Given the description of an element on the screen output the (x, y) to click on. 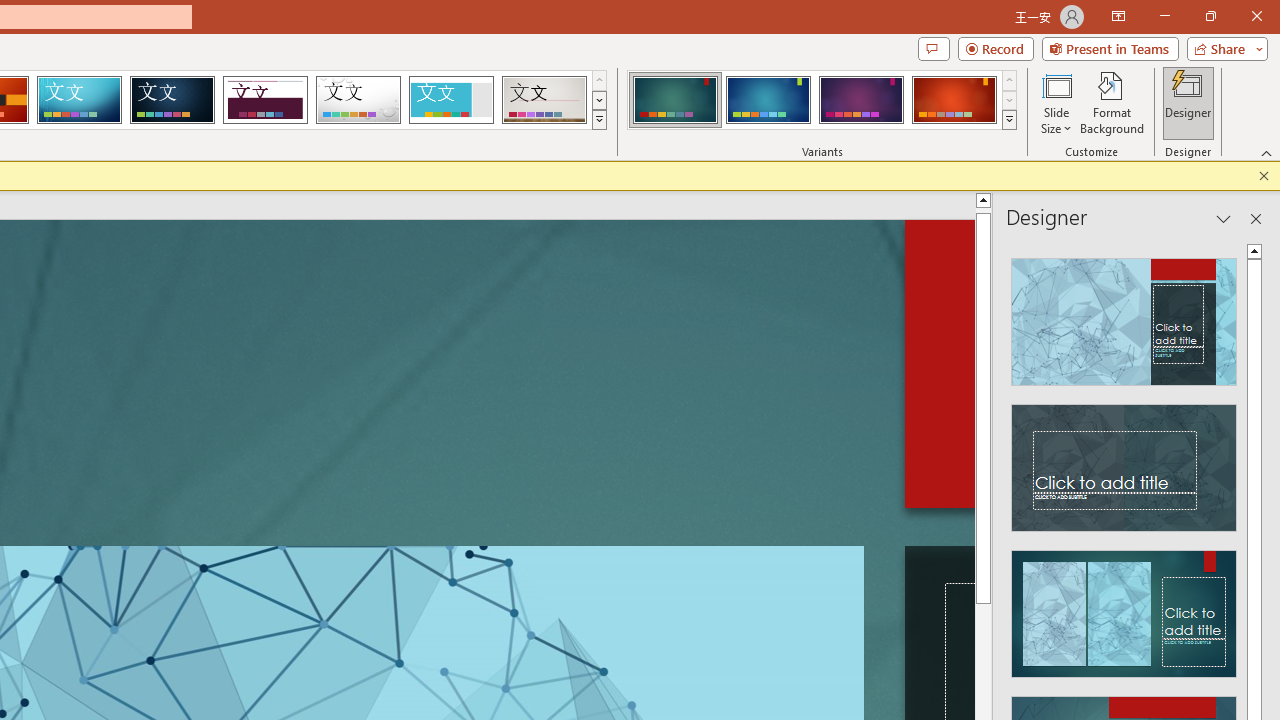
Frame (450, 100)
Droplet (358, 100)
Circuit (79, 100)
